Given the description of an element on the screen output the (x, y) to click on. 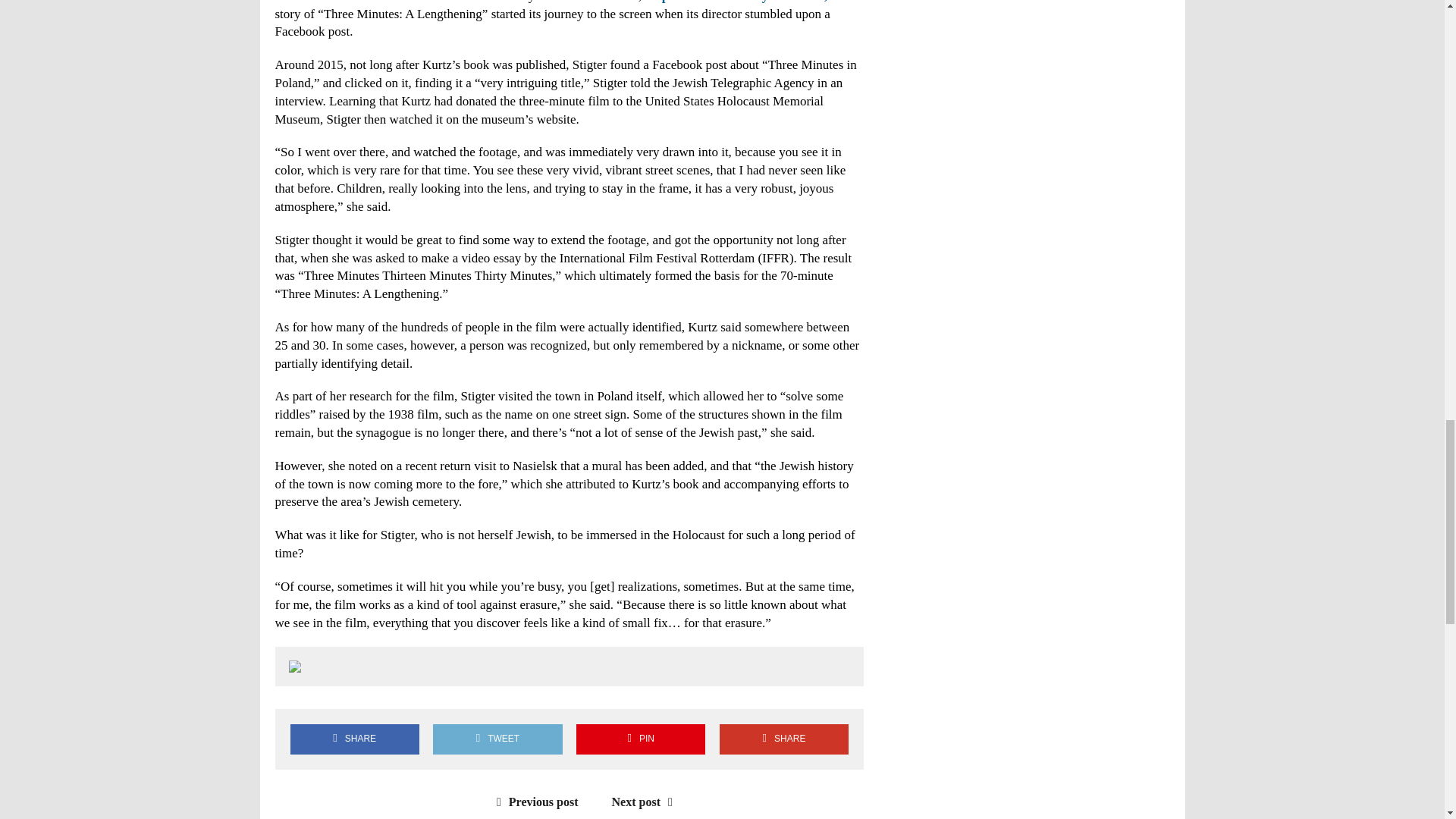
Pin This Post (640, 738)
Share on Facebook (354, 738)
Tweet This Post (497, 738)
